Given the description of an element on the screen output the (x, y) to click on. 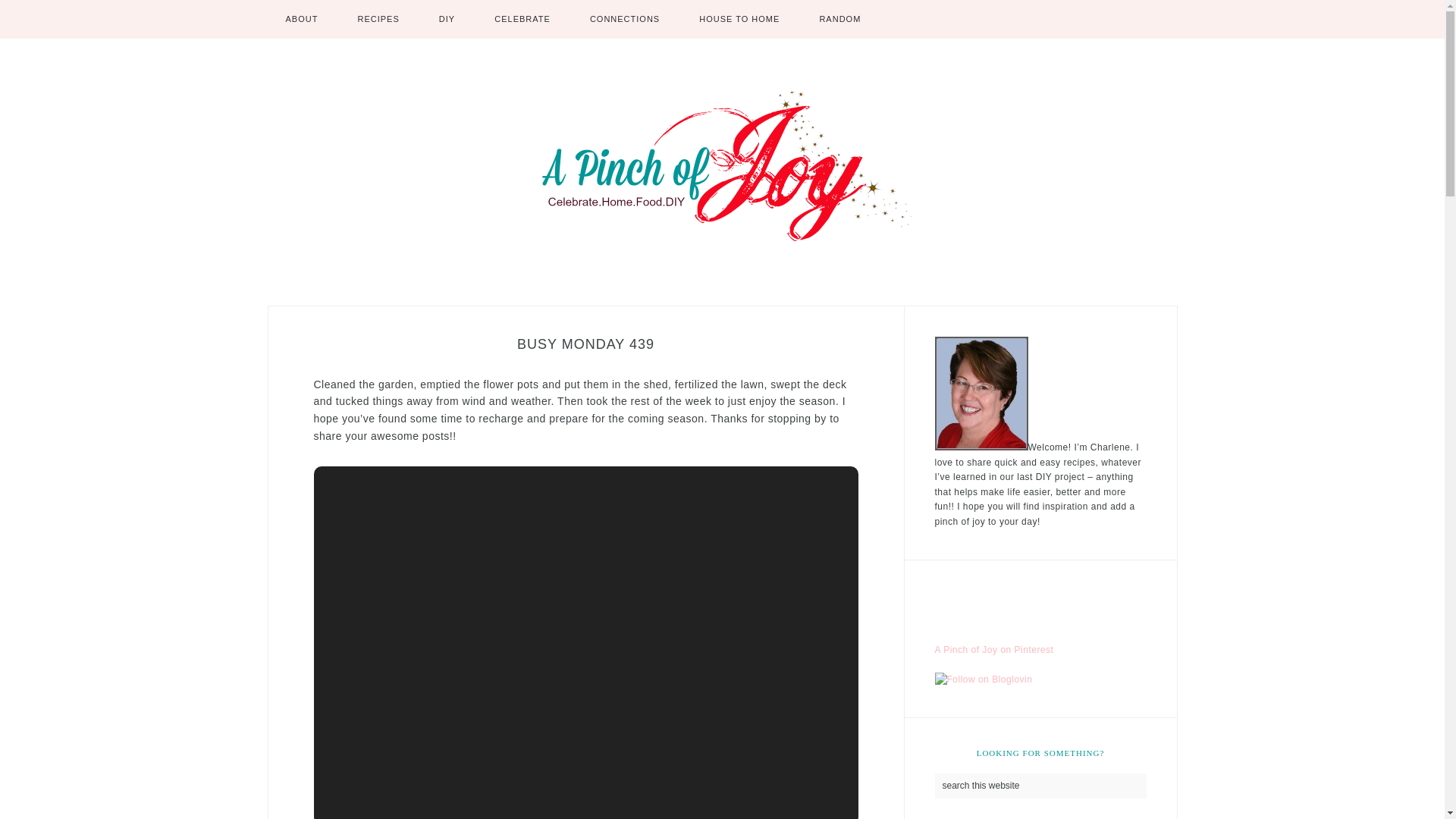
RANDOM (839, 19)
HOUSE TO HOME (739, 19)
A PINCH OF JOY (721, 167)
CONNECTIONS (625, 19)
ABOUT (301, 19)
DIY (446, 19)
CELEBRATE (522, 19)
RECIPES (377, 19)
